Given the description of an element on the screen output the (x, y) to click on. 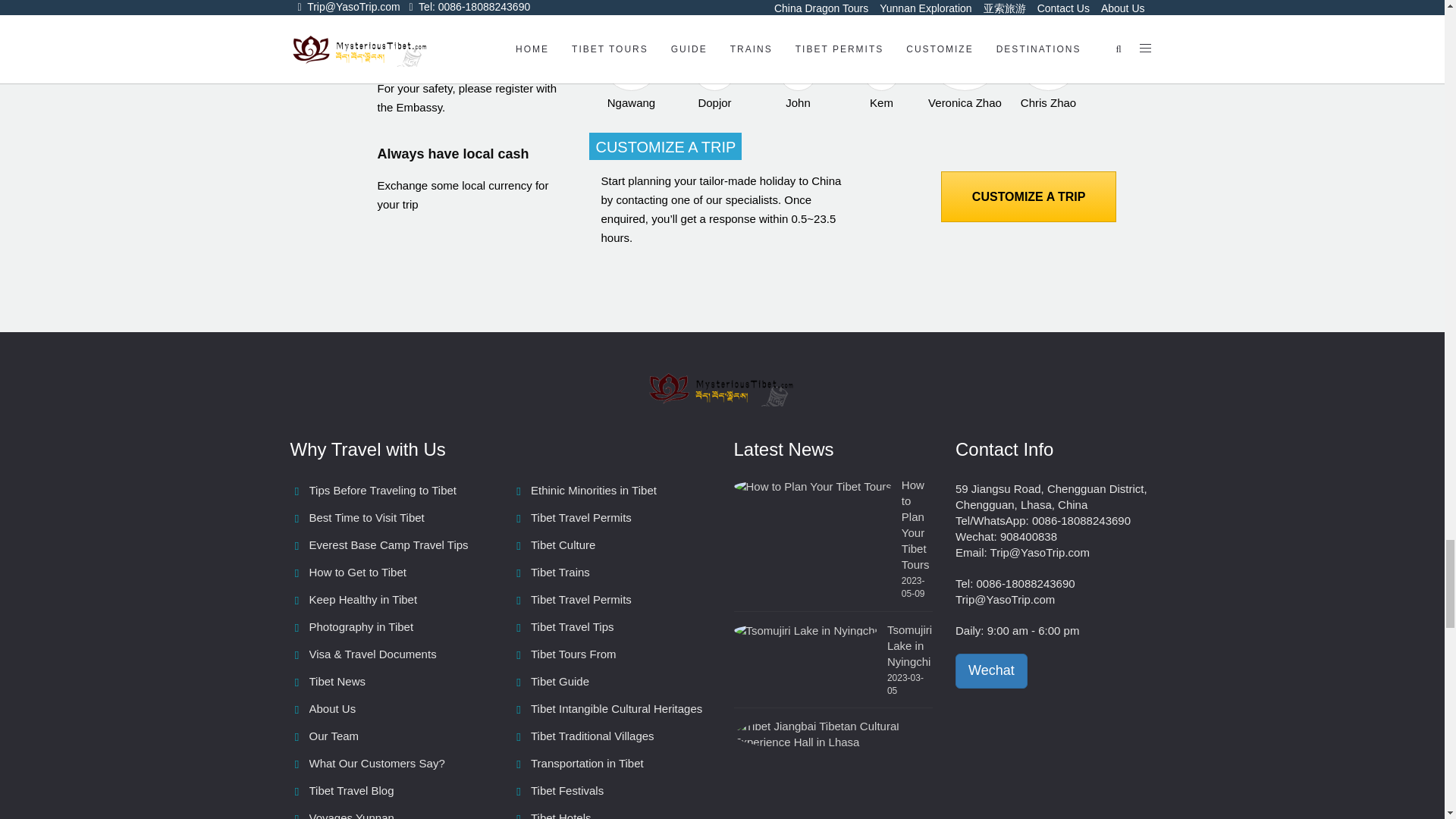
Ngawang (630, 72)
Kem (881, 82)
John (797, 81)
Chris Zhao (1047, 69)
Dopjor (713, 77)
